Given the description of an element on the screen output the (x, y) to click on. 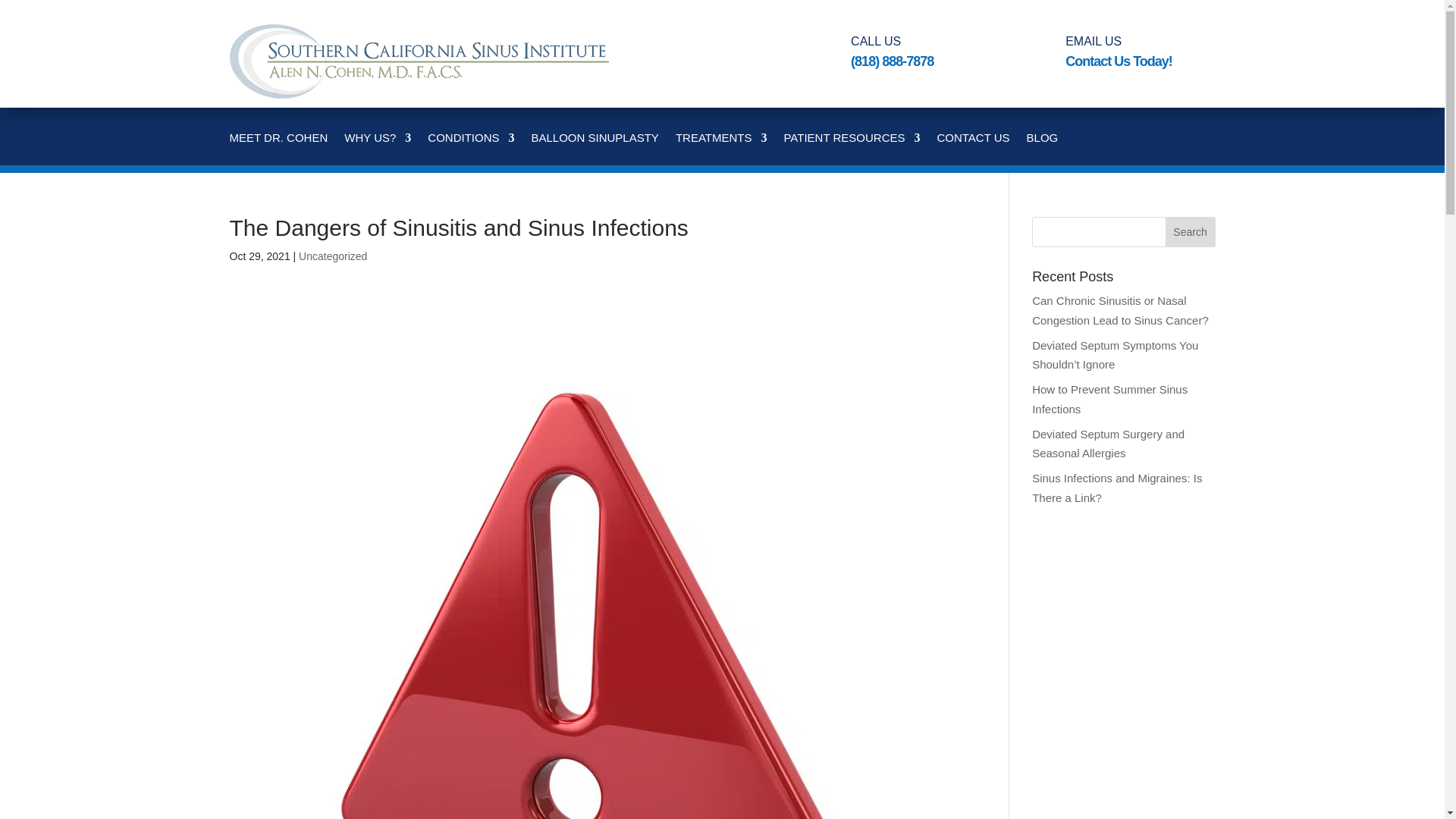
TREATMENTS (721, 148)
BALLOON SINUPLASTY (594, 148)
Contact Us Today! (1118, 61)
Search (1190, 232)
WHY US? (376, 148)
CONTACT US (972, 148)
MEET DR. COHEN (277, 148)
CONDITIONS (470, 148)
PATIENT RESOURCES (851, 148)
divipro-1 (418, 93)
